Given the description of an element on the screen output the (x, y) to click on. 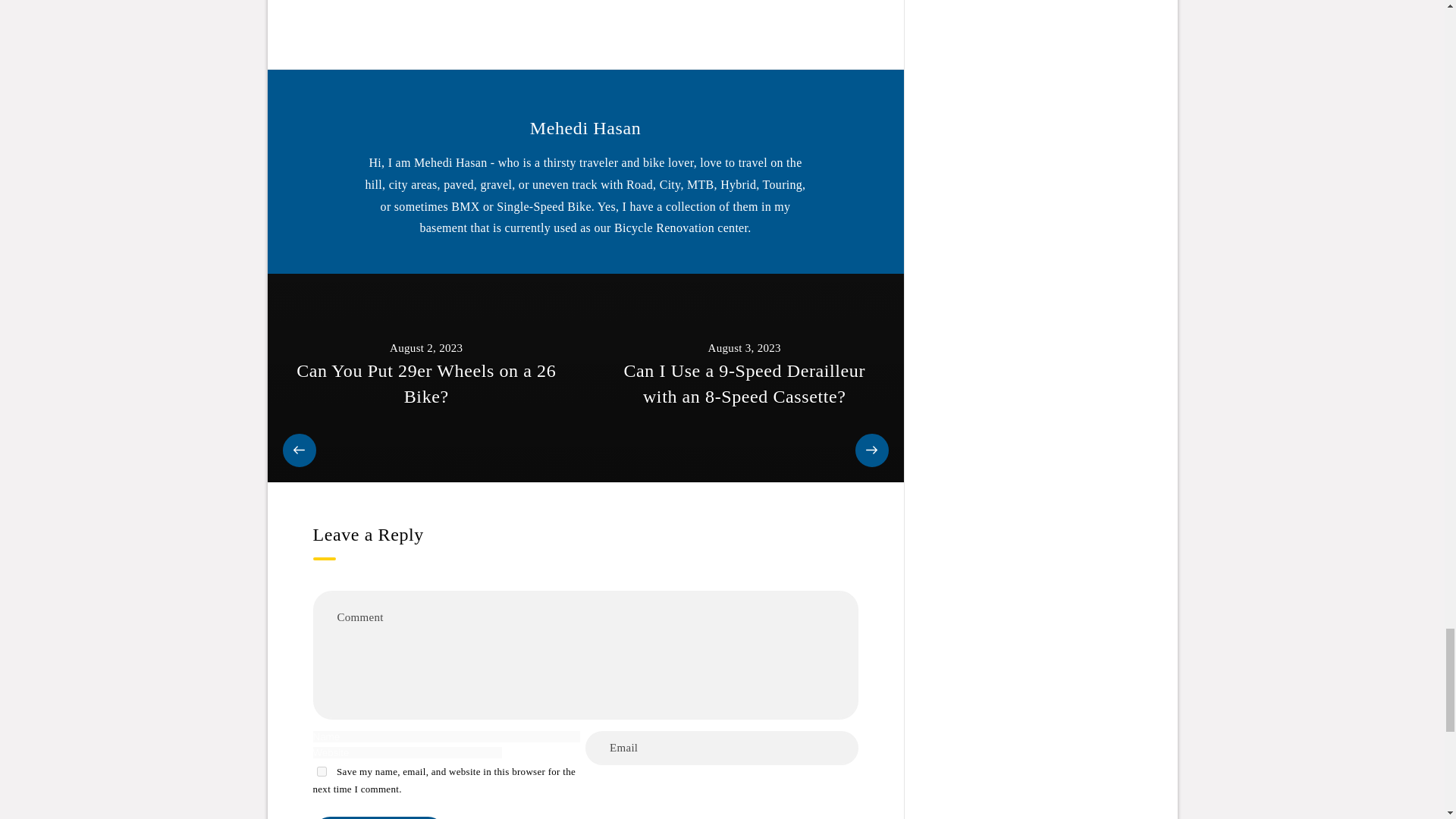
Mehedi Hasan (585, 128)
Post Comment (378, 817)
yes (321, 771)
Post Comment (378, 817)
